Given the description of an element on the screen output the (x, y) to click on. 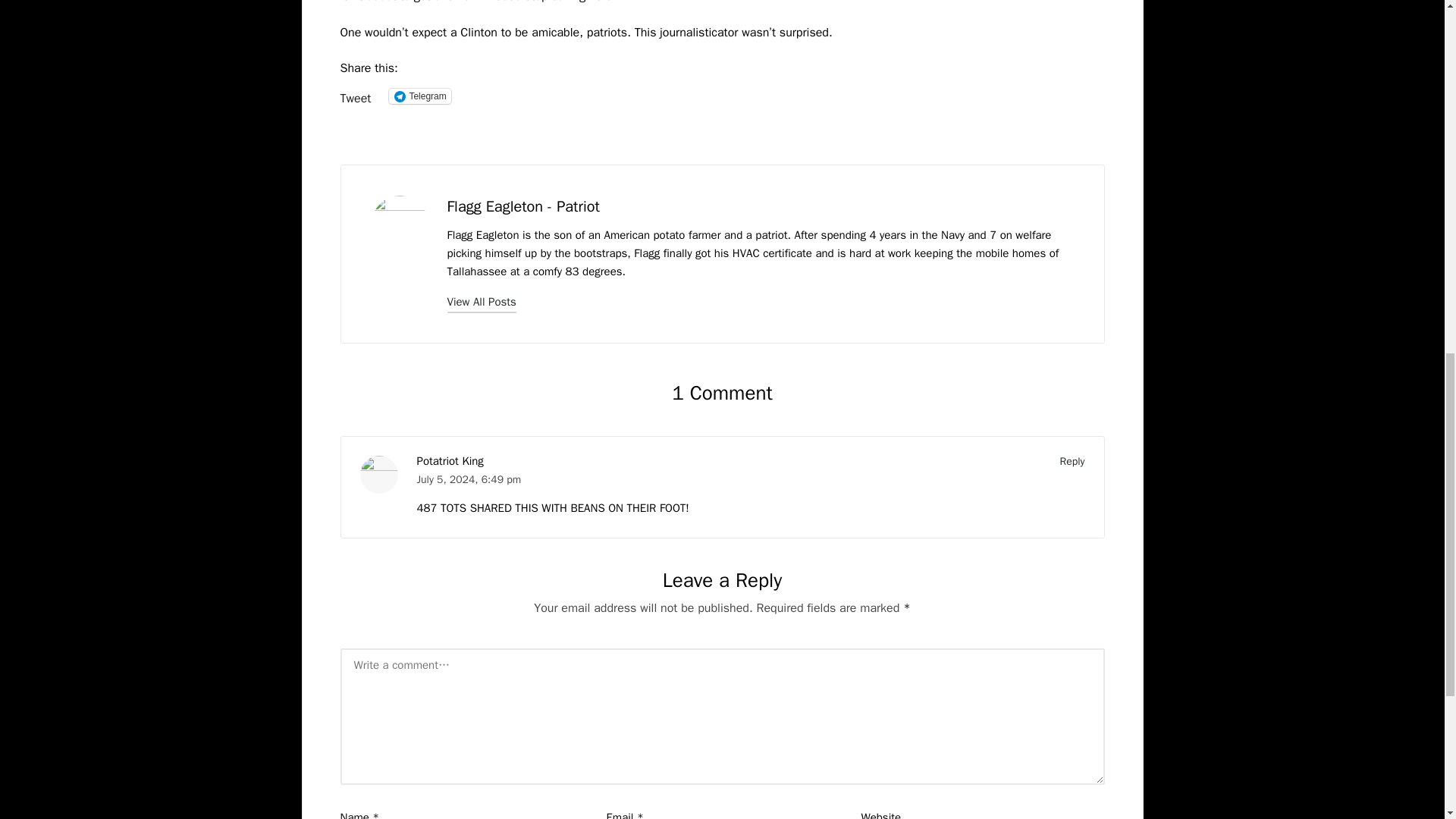
Flagg Eagleton - Patriot (522, 206)
6:49 pm (501, 479)
Tweet (355, 95)
Reply (1071, 461)
Potatriot King (449, 460)
Telegram (418, 96)
View All Posts (481, 301)
Click to share on Telegram (418, 96)
